Given the description of an element on the screen output the (x, y) to click on. 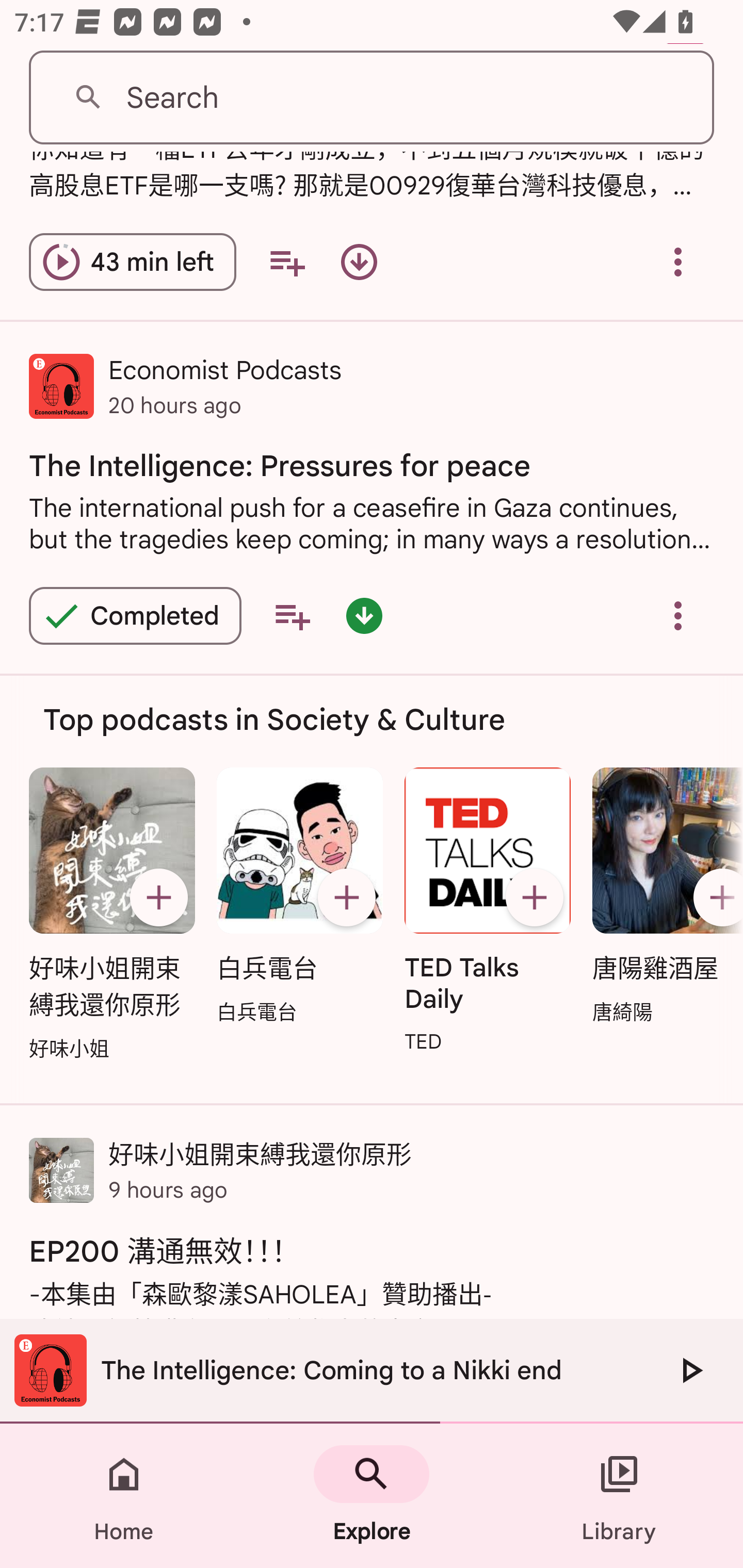
Search (371, 97)
Add to your queue (287, 261)
Download episode (359, 261)
Overflow menu (677, 261)
Add to your queue (291, 615)
Episode downloaded - double tap for options (364, 615)
Overflow menu (677, 615)
好味小姐開束縛我還你原形 Subscribe 好味小姐開束縛我還你原形 好味小姐 (111, 915)
白兵電台 Subscribe 白兵電台 白兵電台 (299, 897)
TED Talks Daily Subscribe TED Talks Daily TED (487, 912)
唐陽雞酒屋 Subscribe 唐陽雞酒屋 唐綺陽 (662, 897)
Subscribe (158, 896)
Subscribe (346, 896)
Subscribe (534, 896)
Subscribe (714, 896)
Play (690, 1370)
Home (123, 1495)
Library (619, 1495)
